Given the description of an element on the screen output the (x, y) to click on. 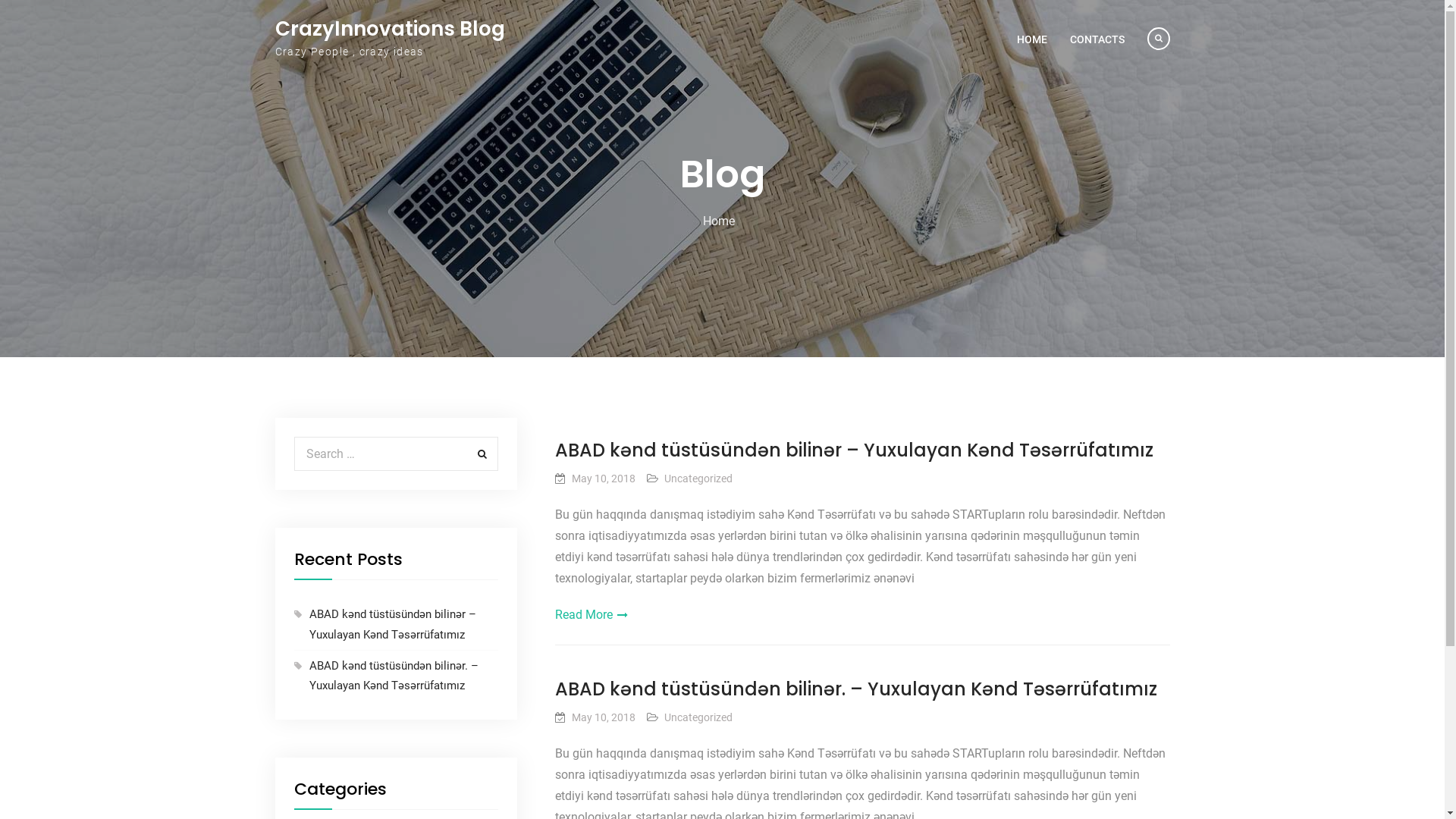
CrazyInnovations Blog Element type: text (389, 28)
May 10, 2018 Element type: text (603, 717)
Read More Element type: text (862, 614)
Skip to content Element type: text (0, 0)
May 10, 2018 Element type: text (603, 478)
Uncategorized Element type: text (698, 717)
HOME Element type: text (1031, 39)
Uncategorized Element type: text (698, 478)
CONTACTS Element type: text (1096, 39)
